Given the description of an element on the screen output the (x, y) to click on. 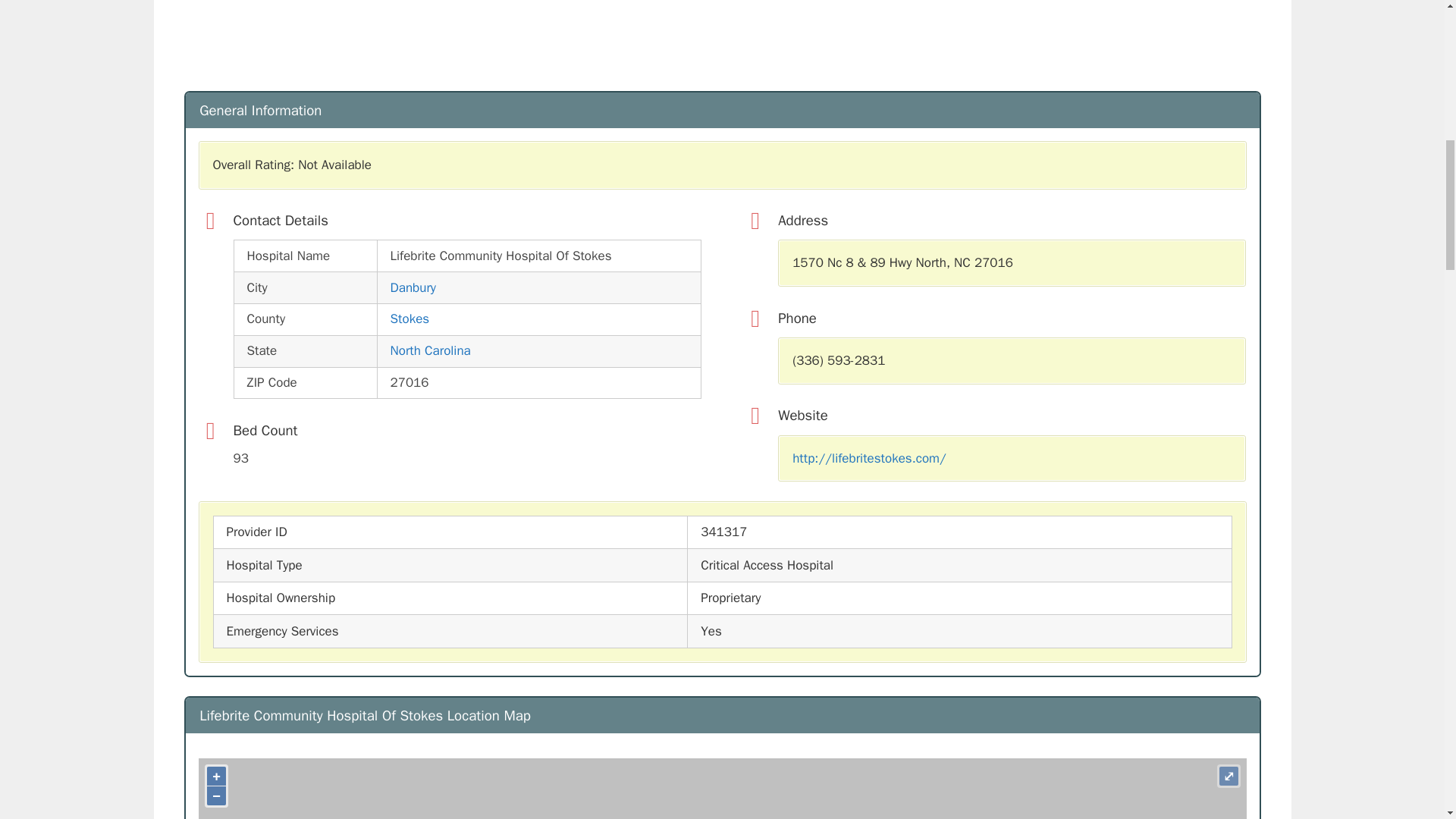
Stokes (409, 318)
Danbury (412, 287)
North Carolina (430, 350)
Advertisement (638, 42)
Hospitals and Emergency Rooms in Stokes County, NC (409, 318)
Hospitals and Emergency Rooms in North Carolina (430, 350)
Scroll back to top (1406, 720)
Hospitals and Emergency Rooms in Danbury, NC (412, 287)
